Given the description of an element on the screen output the (x, y) to click on. 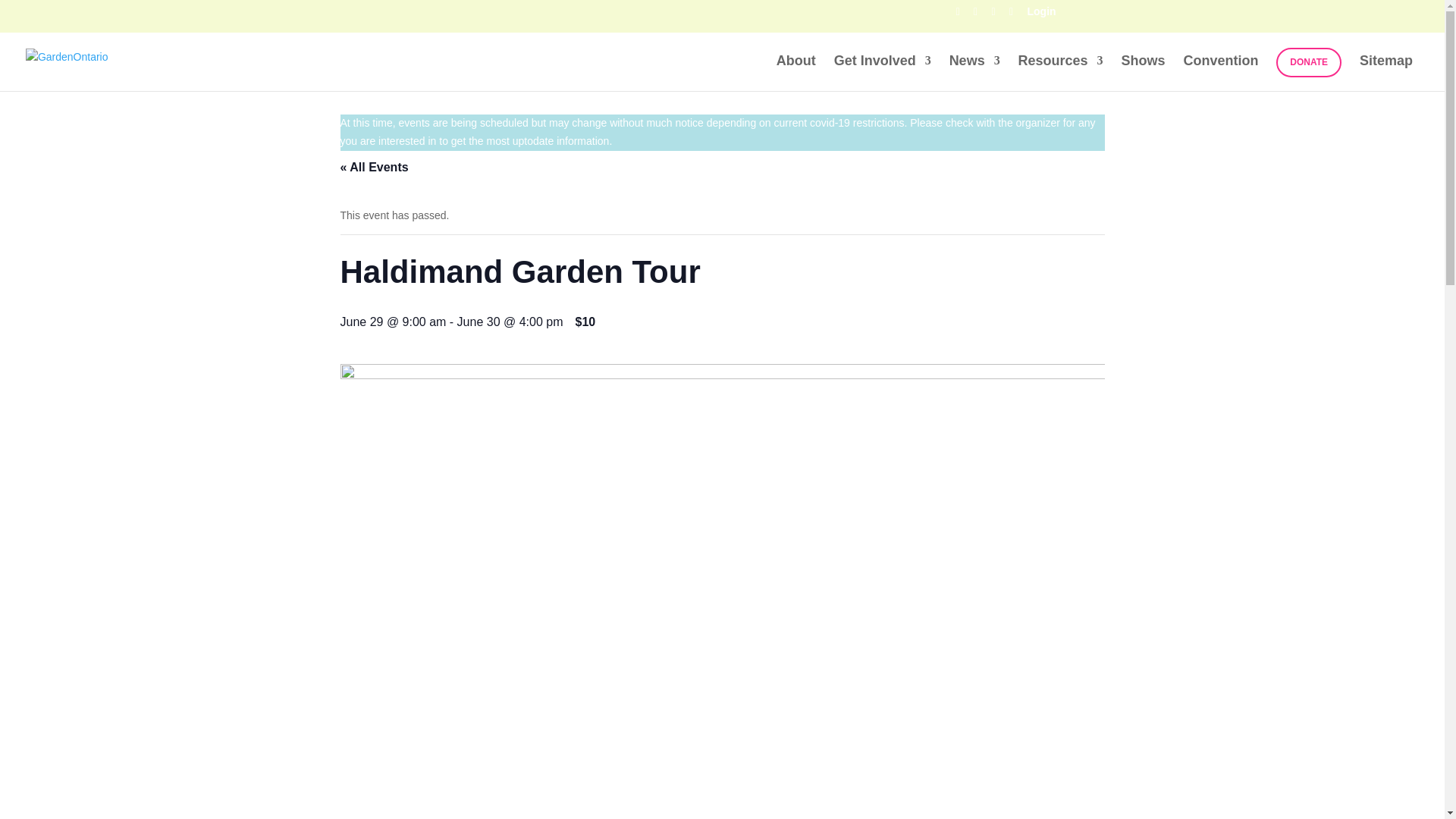
News (974, 72)
Login (1040, 15)
Shows (1142, 72)
About (795, 72)
Resources (1060, 72)
Convention (1219, 72)
DONATE (1308, 61)
Sitemap (1385, 72)
Get Involved (882, 72)
